Given the description of an element on the screen output the (x, y) to click on. 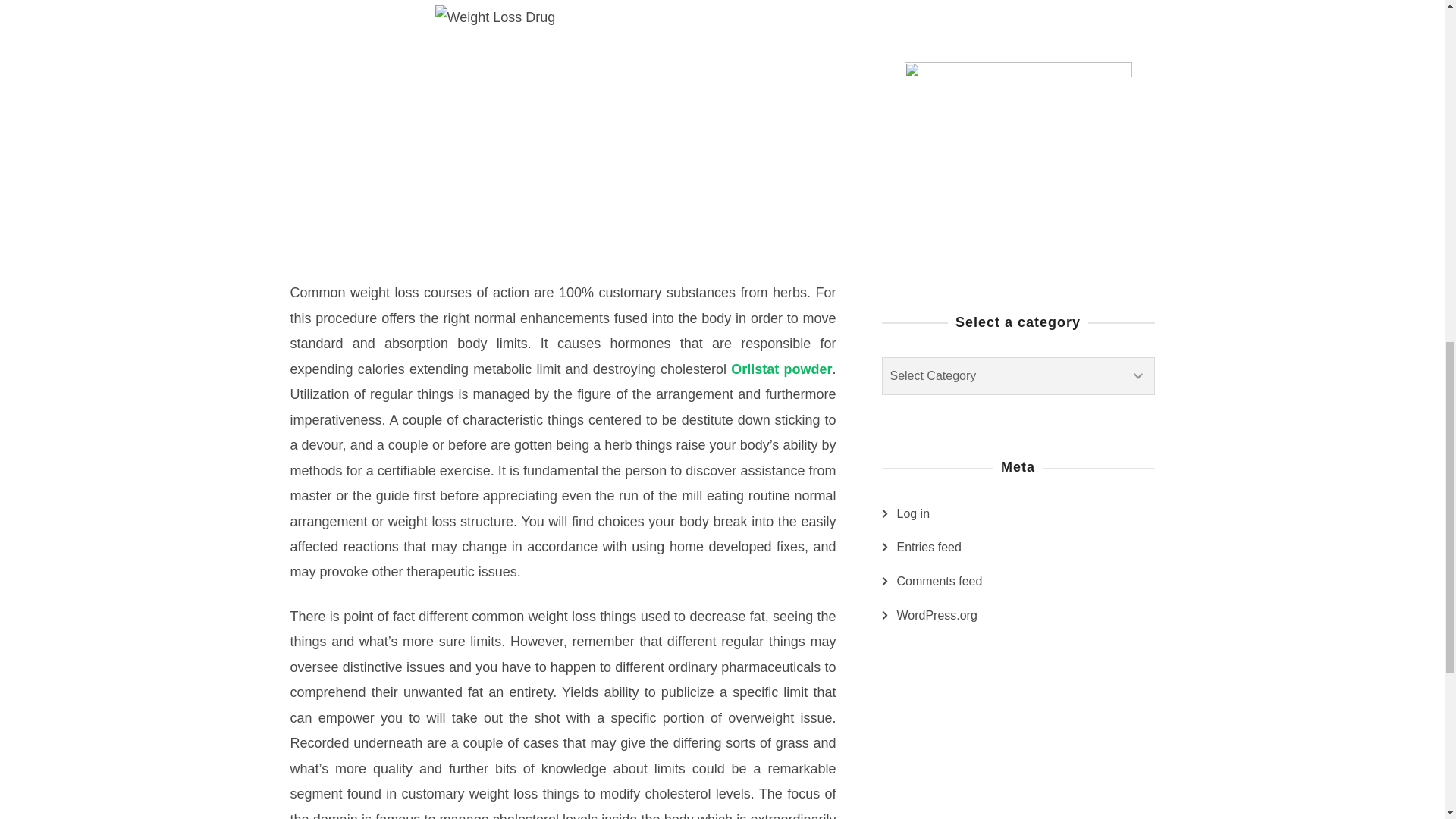
Comments feed (938, 581)
Entries feed (928, 547)
Log in (913, 513)
WordPress.org (936, 615)
Orlistat powder (780, 368)
